Given the description of an element on the screen output the (x, y) to click on. 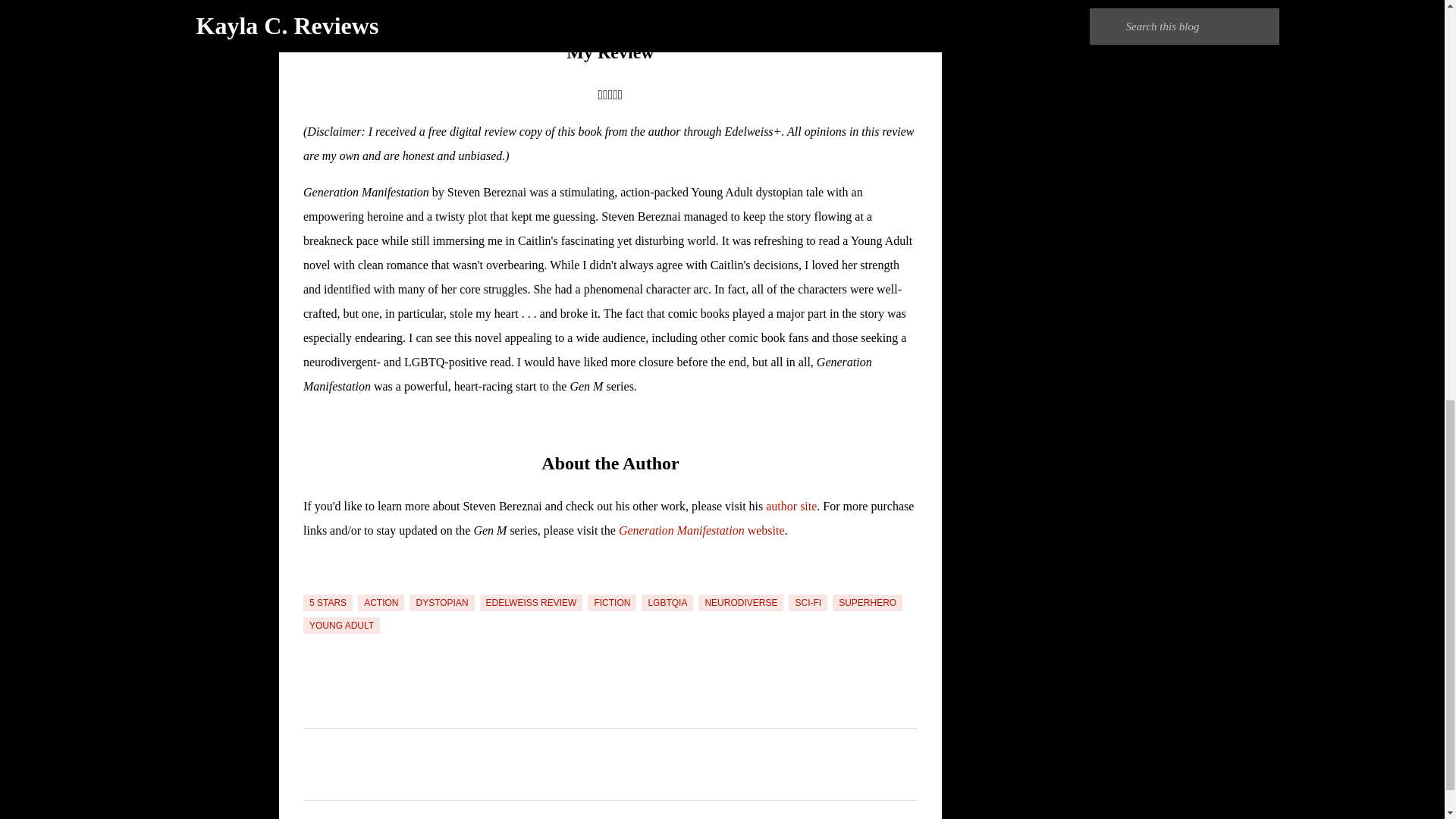
DYSTOPIAN (441, 602)
SUPERHERO (867, 602)
Generation Manifestation website (701, 530)
SCI-FI (808, 602)
5 STARS (327, 602)
NEURODIVERSE (740, 602)
EDELWEISS REVIEW (531, 602)
author site (790, 505)
YOUNG ADULT (341, 625)
FICTION (612, 602)
ACTION (381, 602)
LGBTQIA (667, 602)
